Given the description of an element on the screen output the (x, y) to click on. 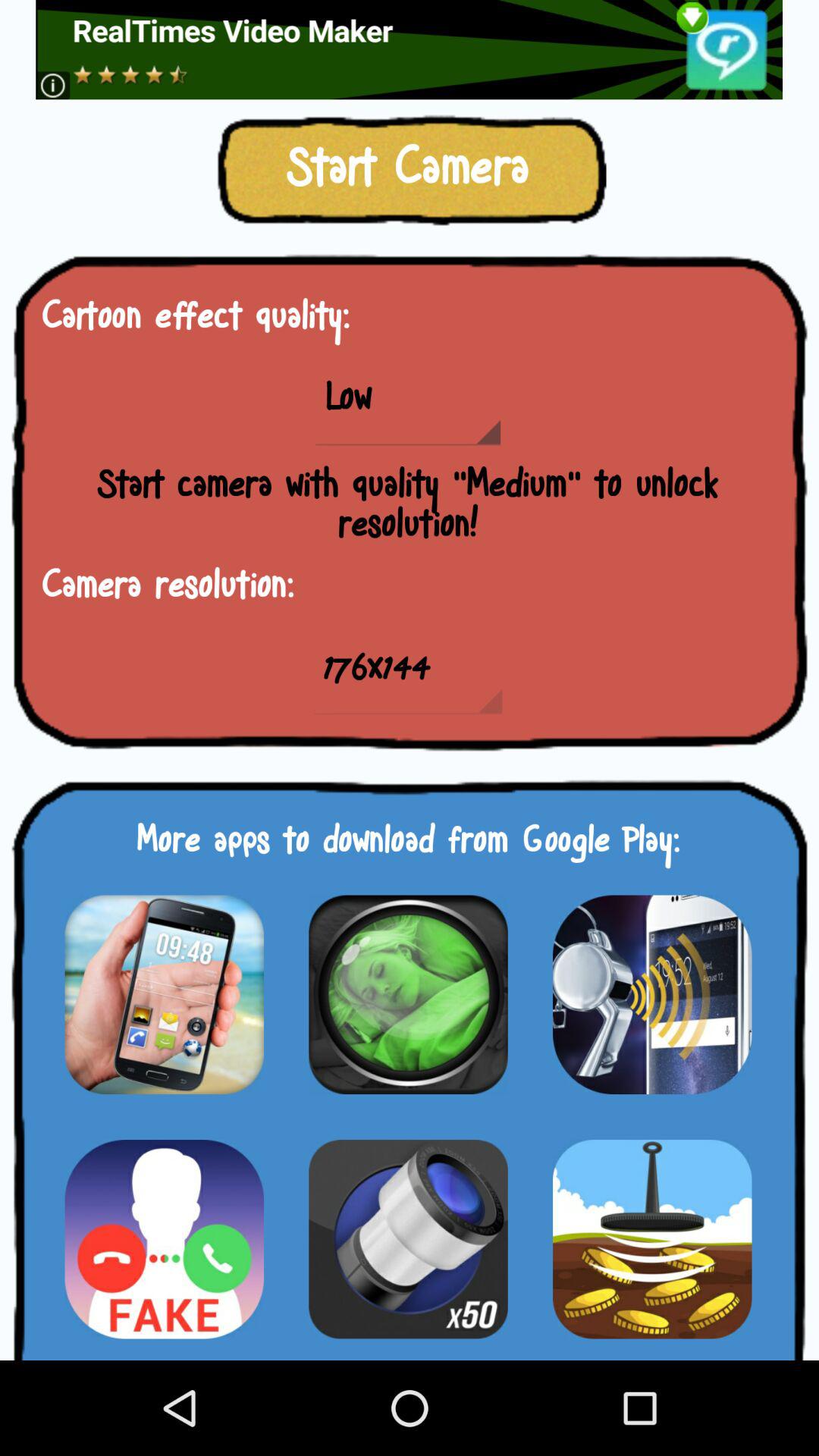
choose option (408, 1239)
